Given the description of an element on the screen output the (x, y) to click on. 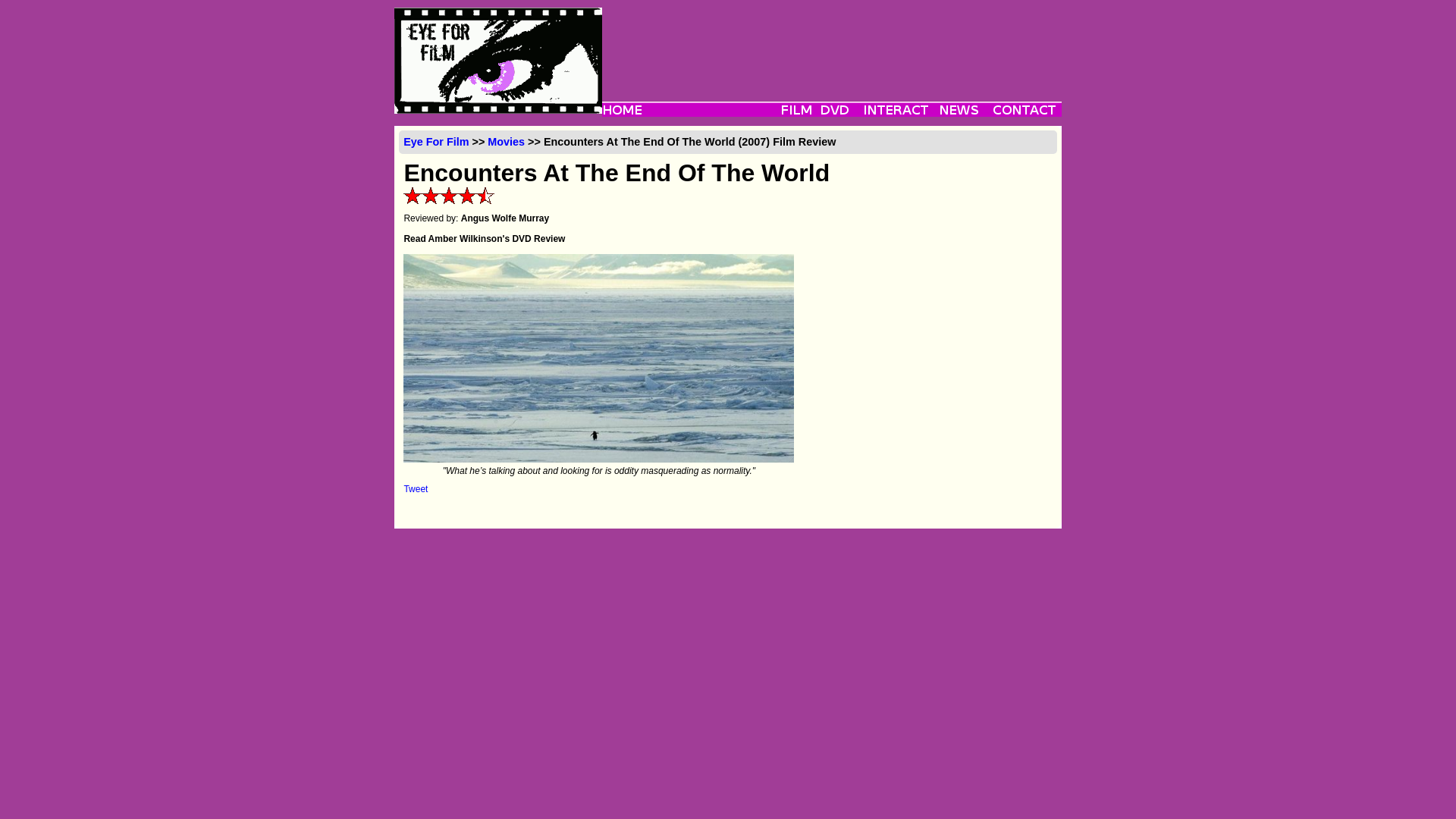
Angus Wolfe Murray (504, 217)
Advertisement (832, 41)
Tweet (415, 489)
Eye For Film (435, 141)
Read Amber Wilkinson's DVD Review (483, 238)
Movies (505, 141)
